Given the description of an element on the screen output the (x, y) to click on. 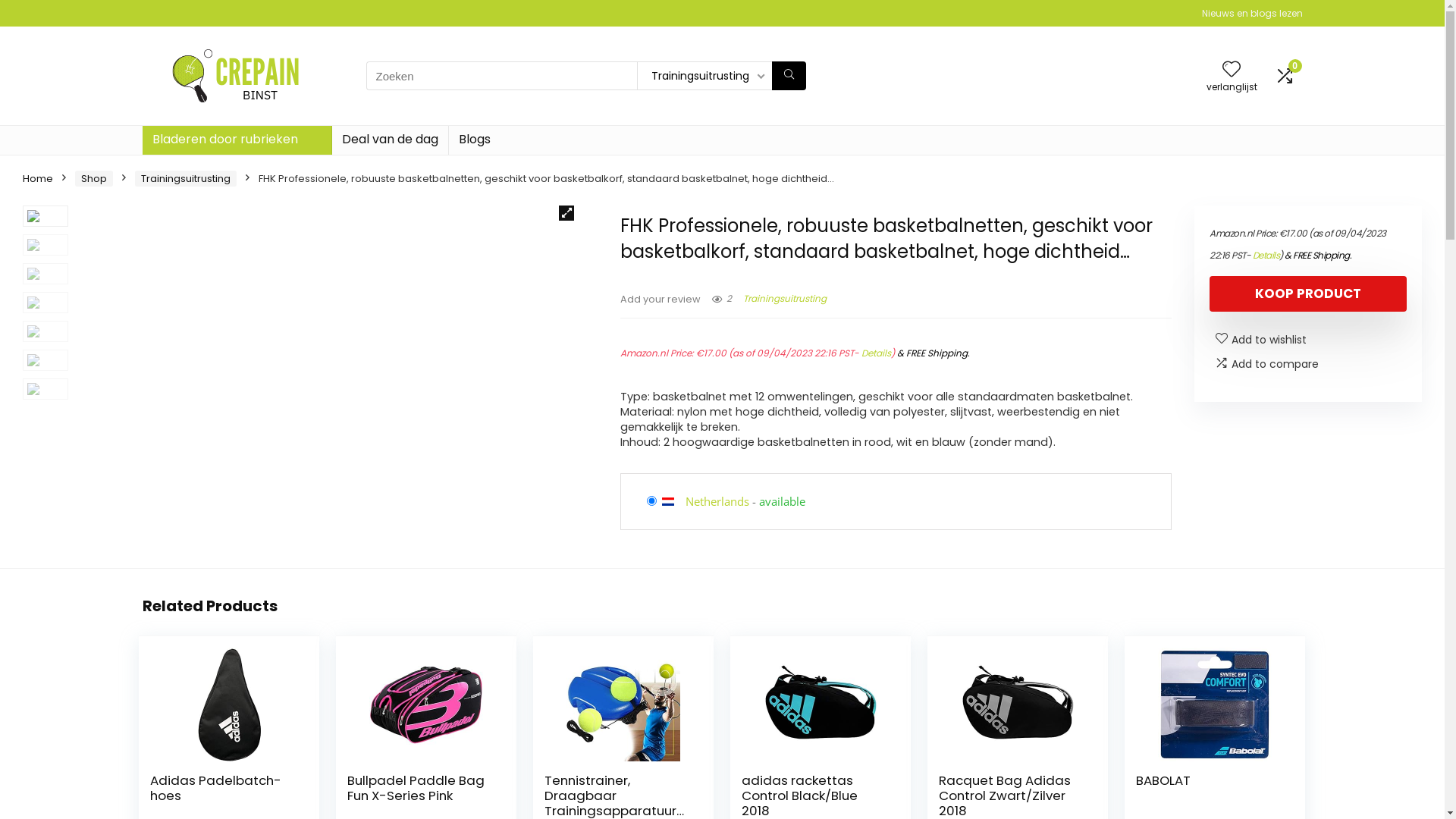
Details Element type: text (1266, 254)
Blogs Element type: text (474, 139)
Trainingsuitrusting Element type: text (784, 297)
KOOP PRODUCT Element type: text (1307, 293)
Bladeren door rubrieken Element type: text (236, 139)
Details Element type: text (876, 352)
Home Element type: text (37, 178)
BABOLAT Element type: text (1162, 780)
Deal van de dag Element type: text (390, 139)
Netherlands Element type: text (717, 500)
Adidas Padelbatch-hoes Element type: text (215, 787)
Netherlands Element type: hover (673, 500)
Nieuws en blogs lezen Element type: text (1251, 12)
Trainingsuitrusting Element type: text (185, 178)
Bullpadel Paddle Bag Fun X-Series Pink Element type: text (415, 787)
Shop Element type: text (93, 178)
